Given the description of an element on the screen output the (x, y) to click on. 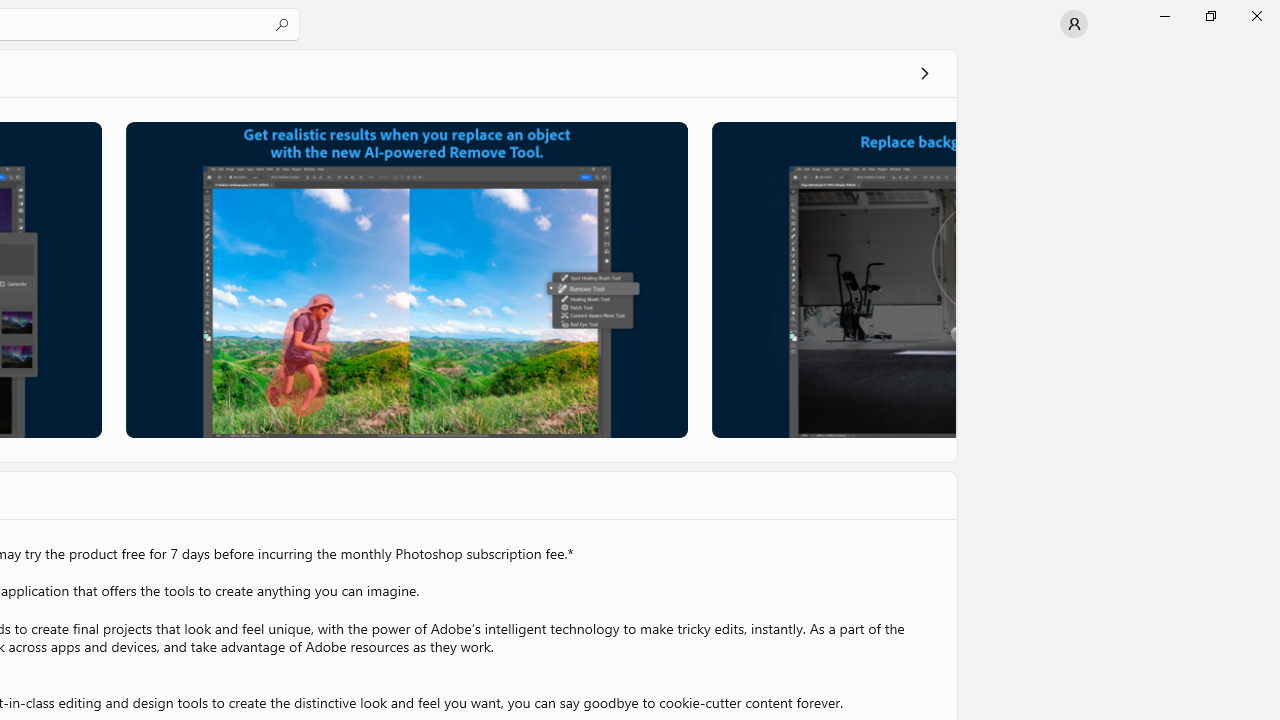
Screenshot 2 (406, 279)
Screenshot 3 (833, 279)
See all (924, 72)
